Given the description of an element on the screen output the (x, y) to click on. 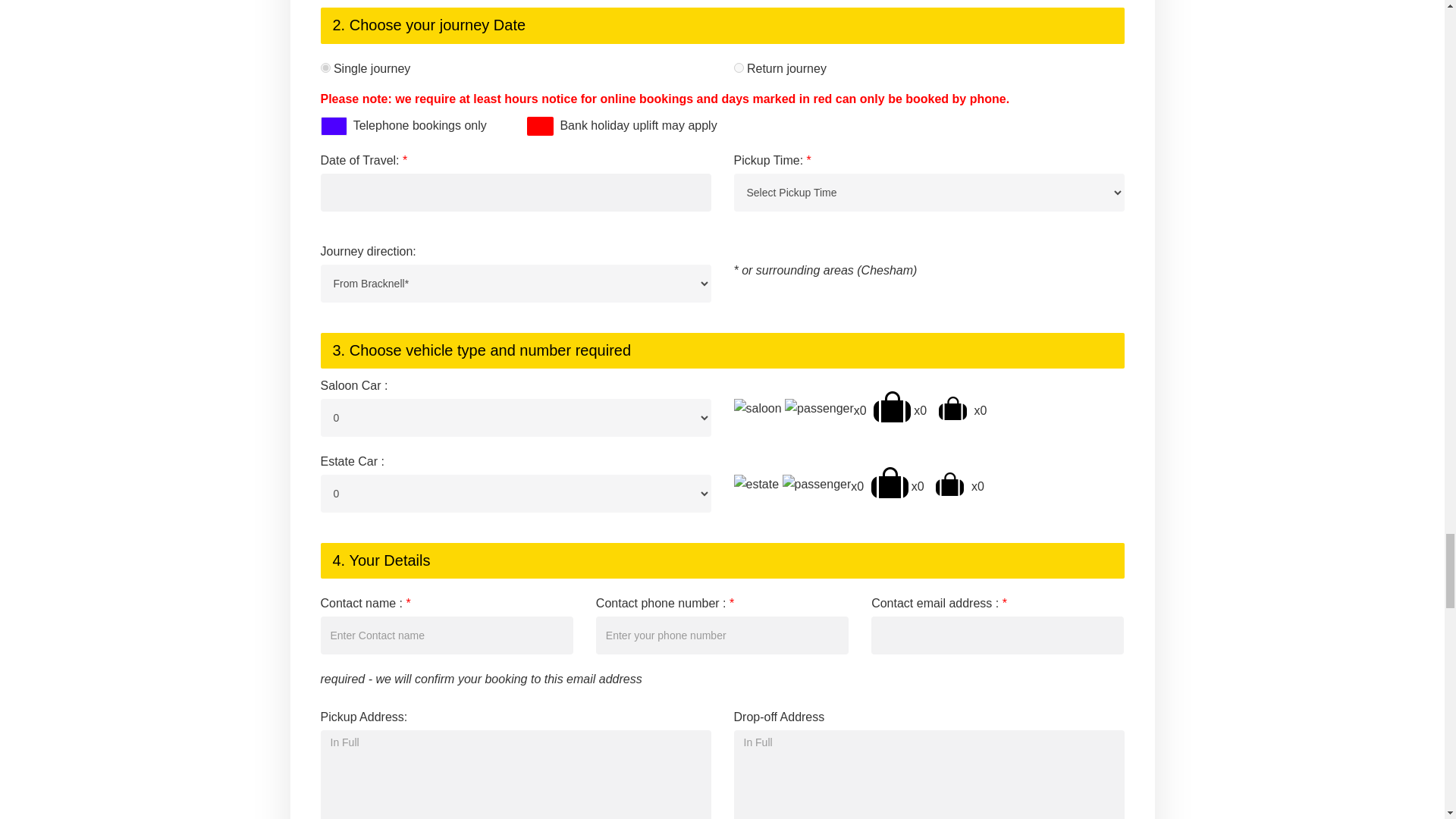
return (738, 67)
single (325, 67)
